Given the description of an element on the screen output the (x, y) to click on. 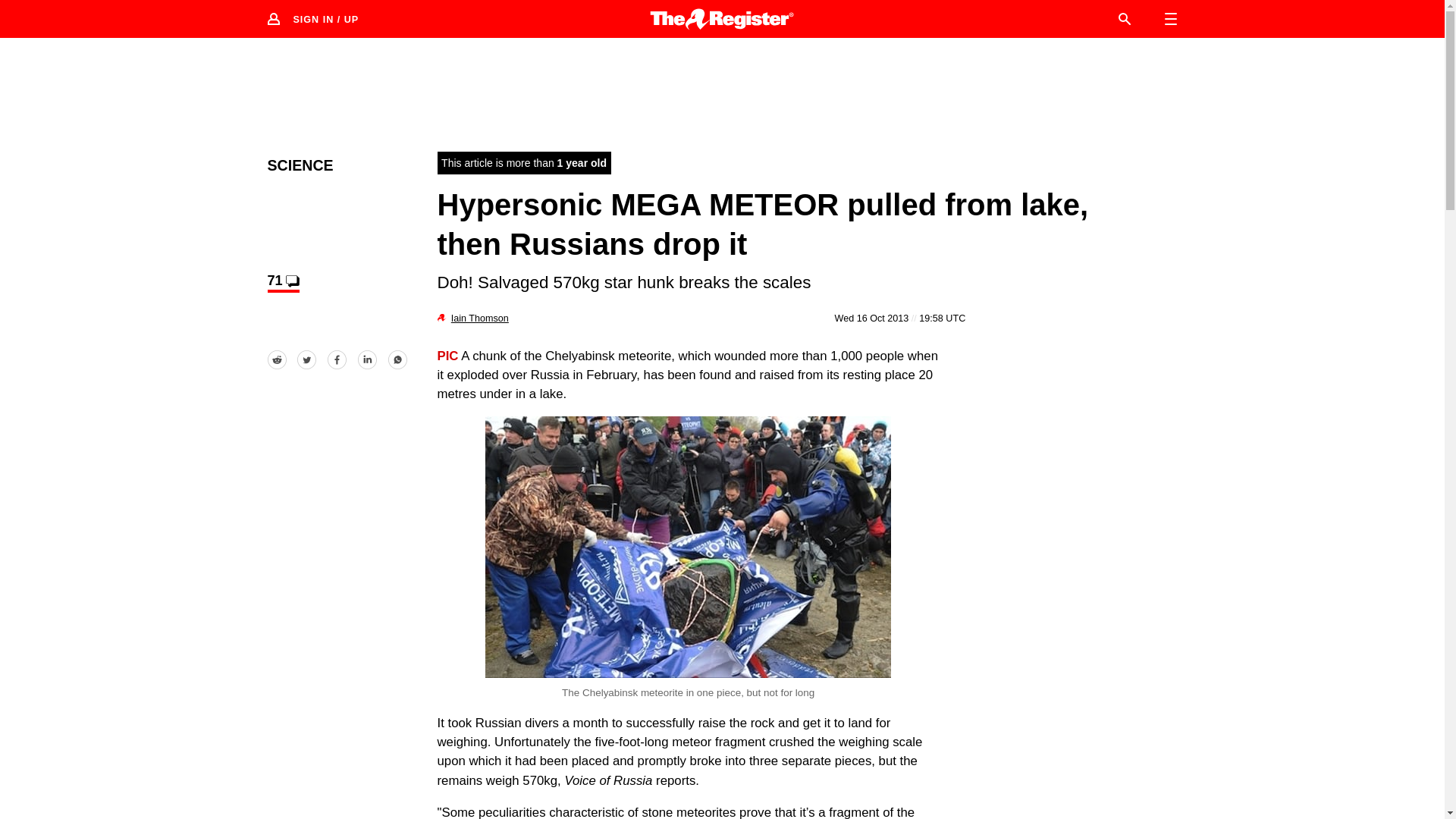
Chelyabinsk meteorite  (687, 547)
Read more by this author (479, 318)
View comments on this article (282, 282)
